Given the description of an element on the screen output the (x, y) to click on. 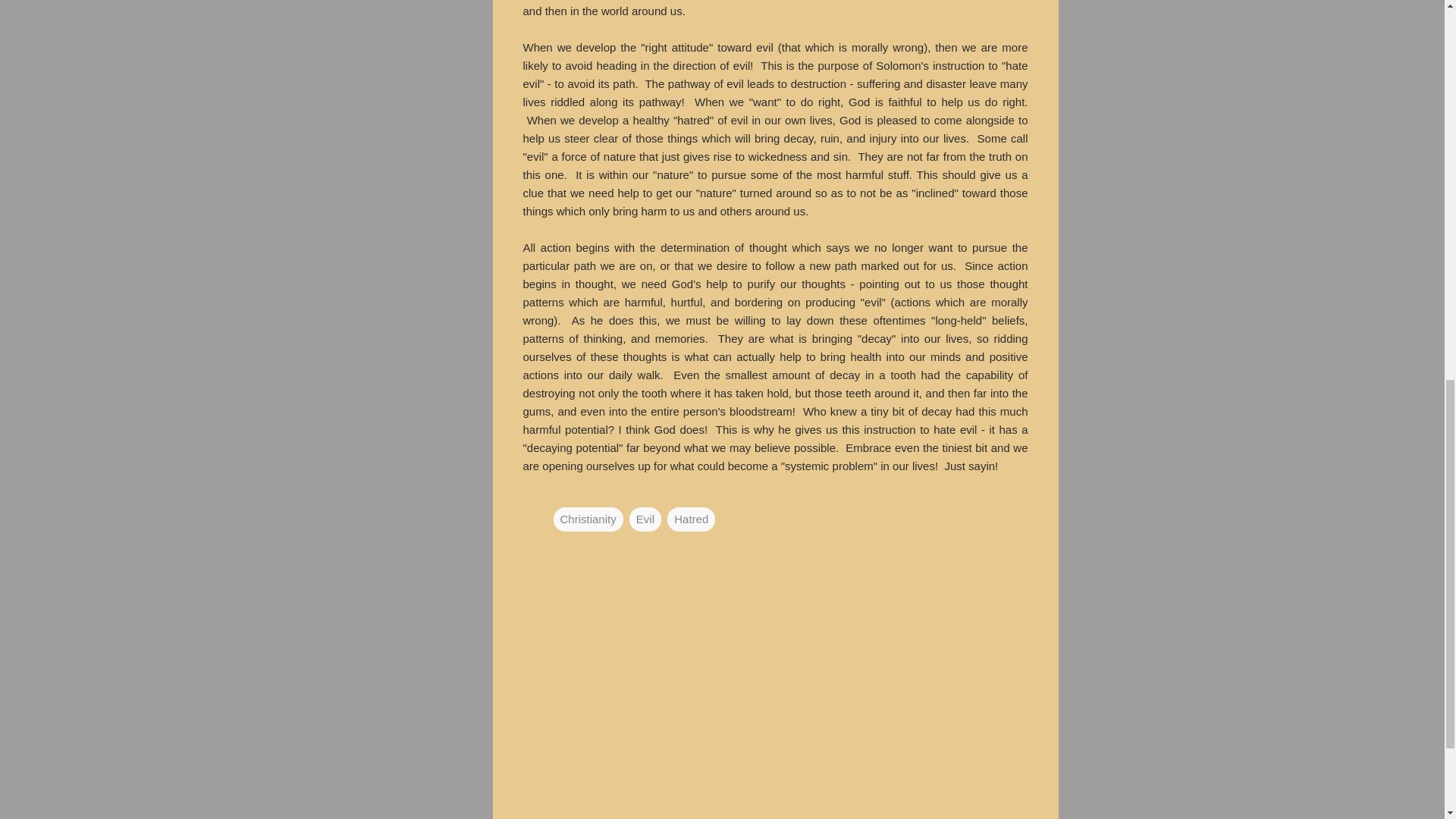
Evil (644, 518)
Hatred (690, 518)
Christianity (588, 518)
